Given the description of an element on the screen output the (x, y) to click on. 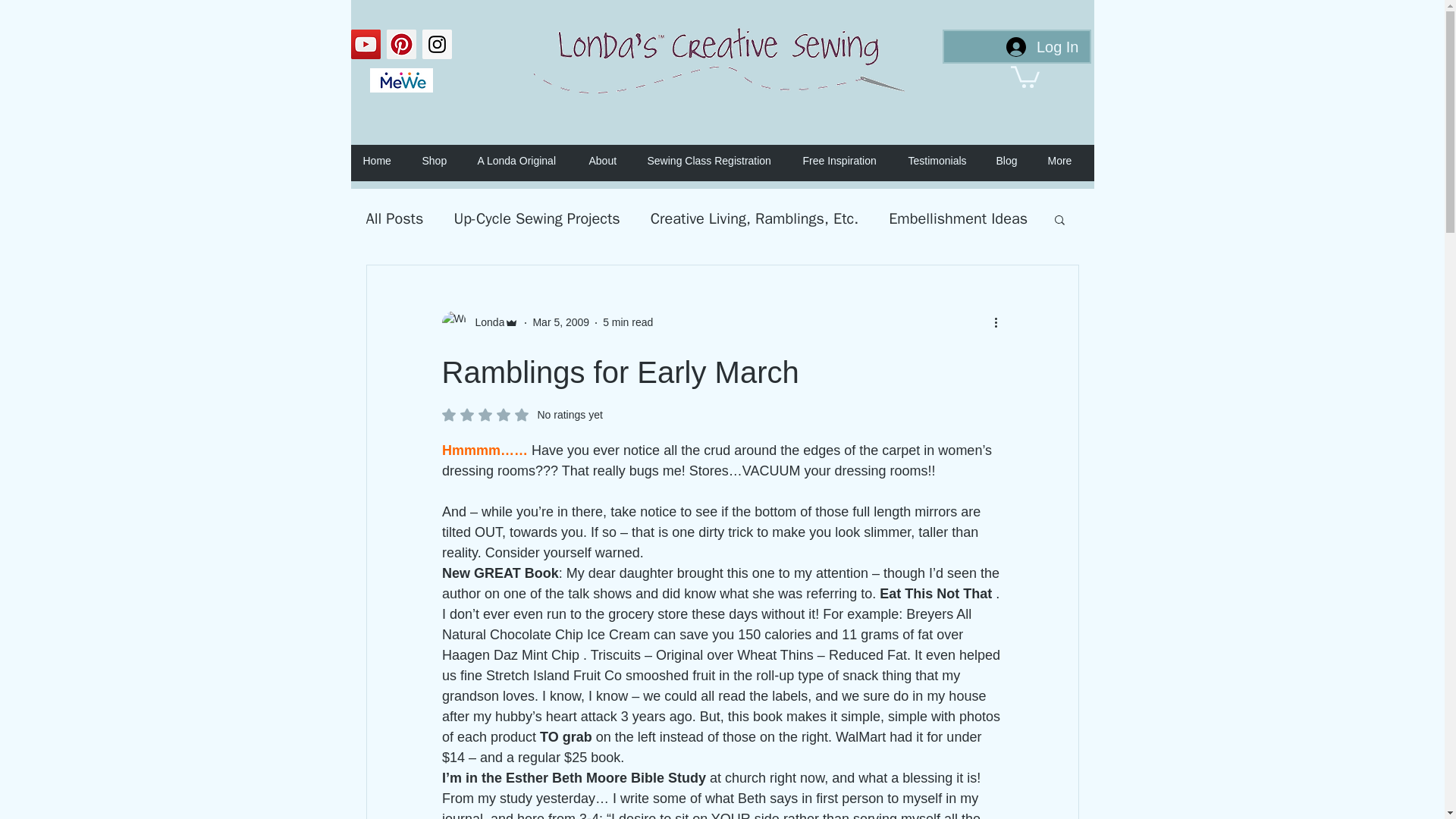
Testimonials (944, 160)
Up-Cycle Sewing Projects (536, 218)
Home (384, 160)
Free Inspiration (846, 160)
Sewing Class Registration (717, 160)
A Londa Original (525, 160)
Embellishment Ideas (957, 218)
All Posts (394, 218)
3mewelogo.png (400, 79)
Shop (440, 160)
Blog (1014, 160)
Londa (484, 322)
Log In (1042, 46)
Mar 5, 2009 (560, 322)
5 min read (627, 322)
